Given the description of an element on the screen output the (x, y) to click on. 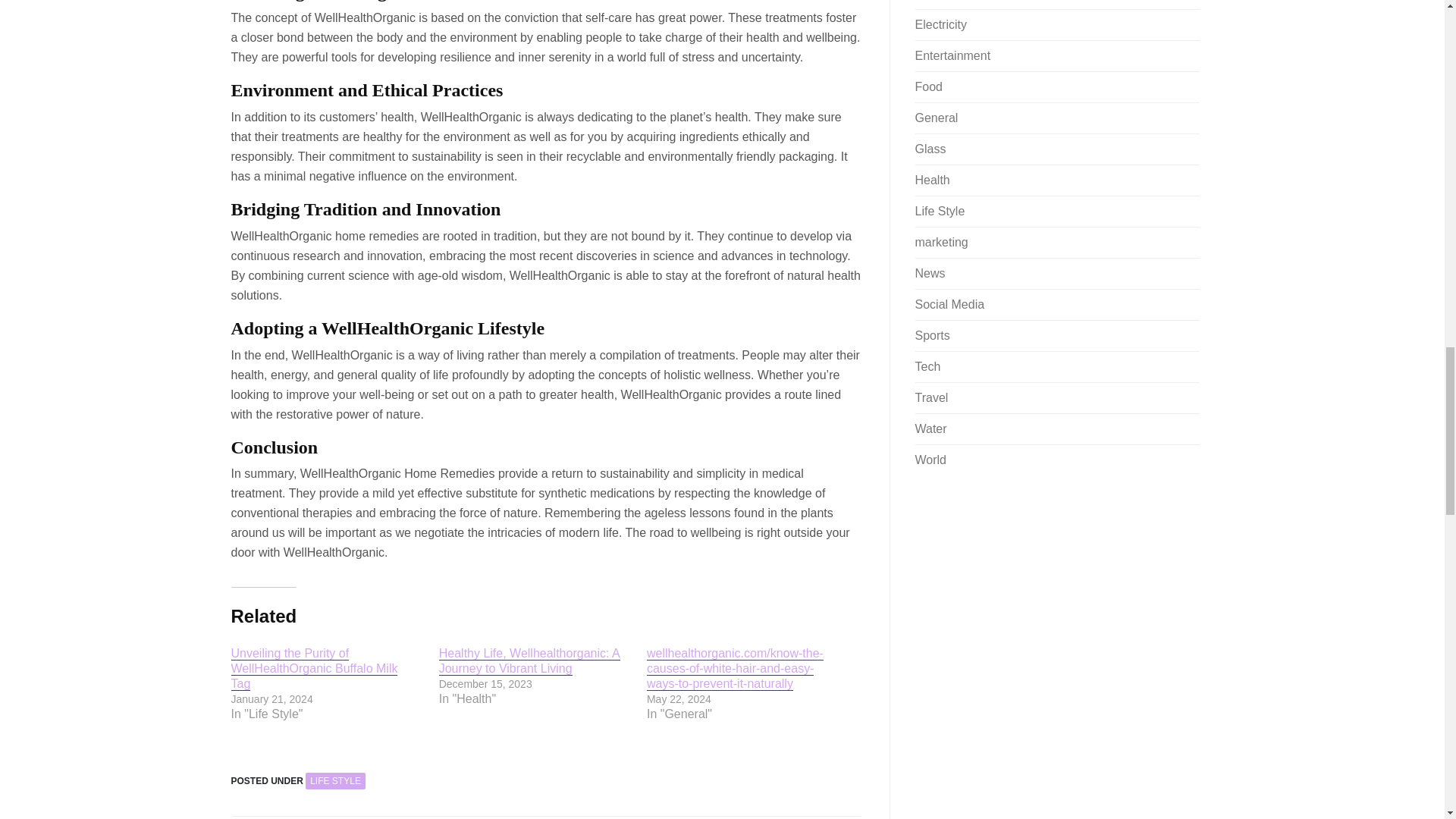
Unveiling the Purity of WellHealthOrganic Buffalo Milk Tag (313, 669)
LIFE STYLE (335, 781)
Unveiling the Purity of WellHealthOrganic Buffalo Milk Tag (313, 669)
Healthy Life, Wellhealthorganic: A Journey to Vibrant Living (529, 661)
Healthy Life, Wellhealthorganic: A Journey to Vibrant Living (529, 661)
